Given the description of an element on the screen output the (x, y) to click on. 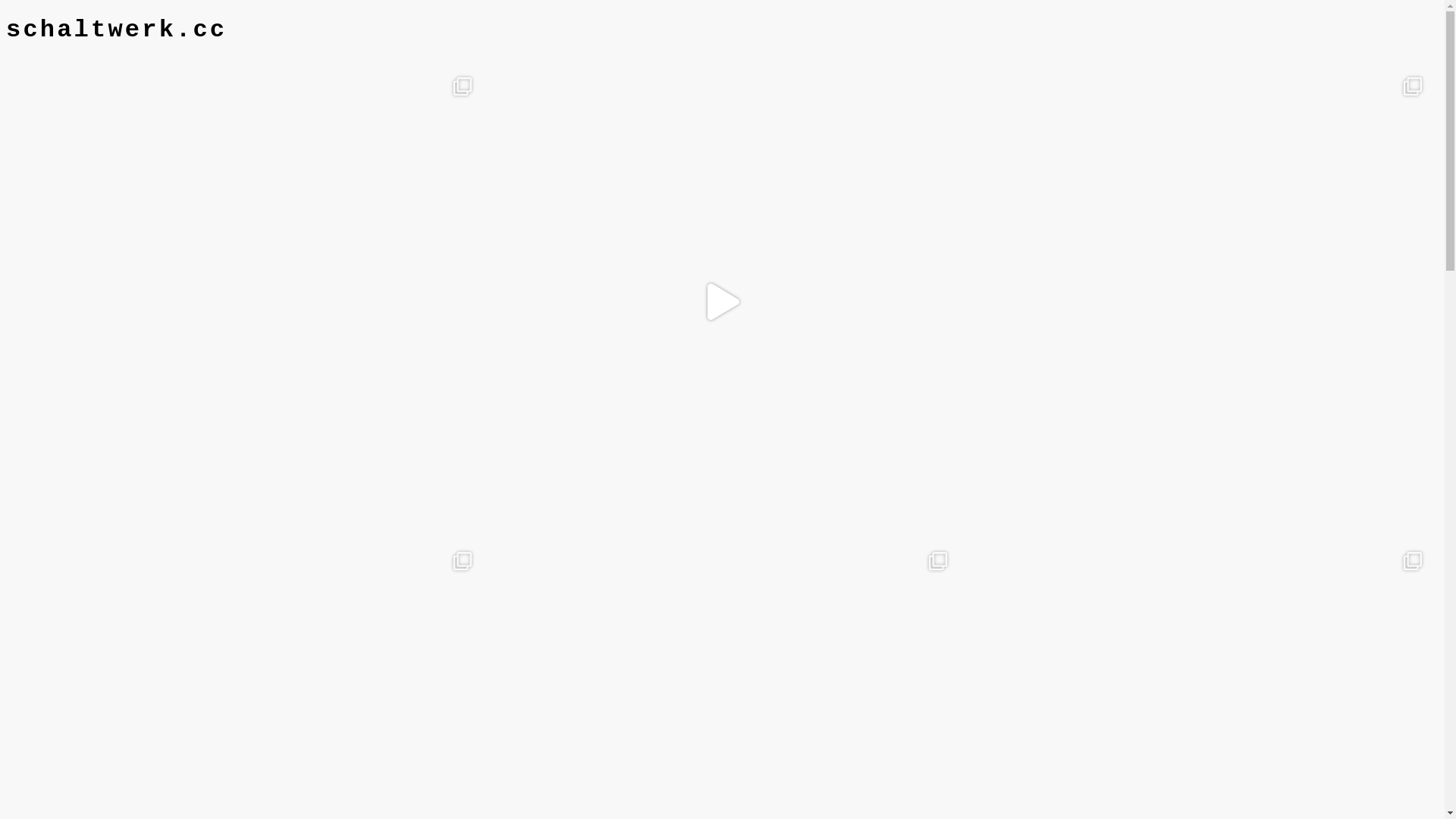
Zum Inhalt springen Element type: text (5, 15)
